Given the description of an element on the screen output the (x, y) to click on. 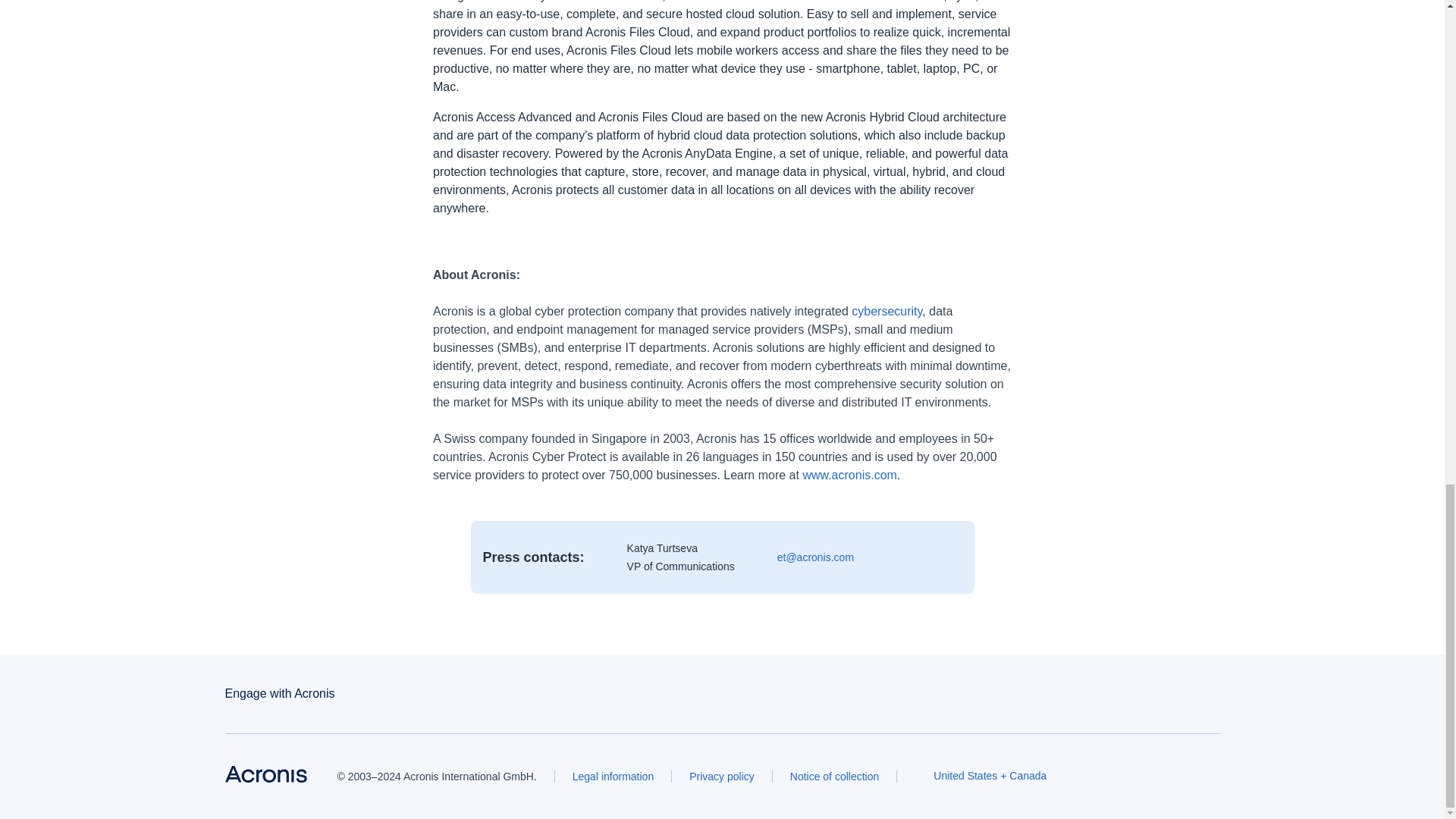
Acronis (264, 773)
